Given the description of an element on the screen output the (x, y) to click on. 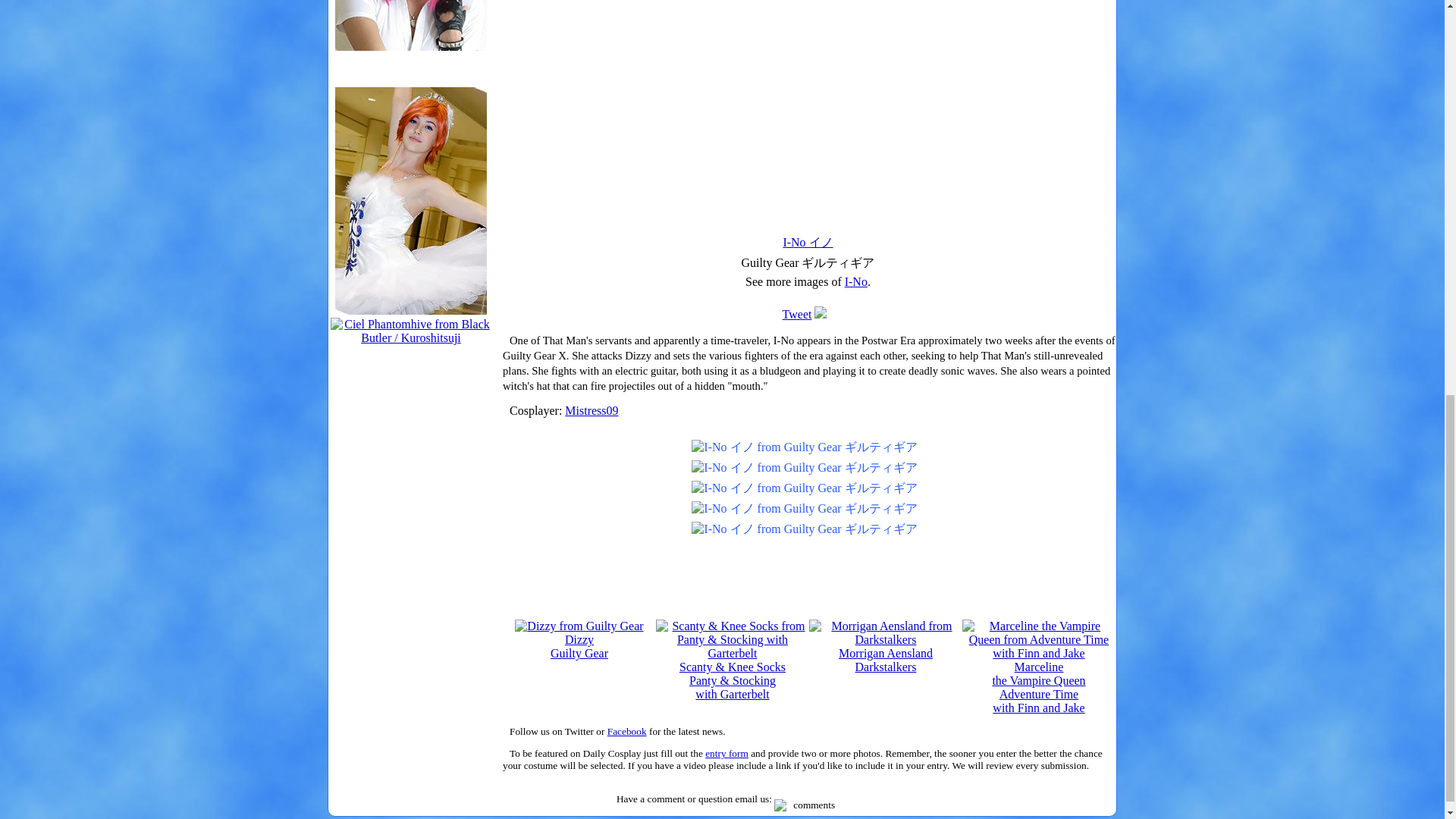
Tweet (797, 314)
entry form (726, 753)
Facebook (626, 731)
I-No (579, 639)
Candy Cane from Rumble Roses (855, 281)
Mistress09 (410, 42)
